Given the description of an element on the screen output the (x, y) to click on. 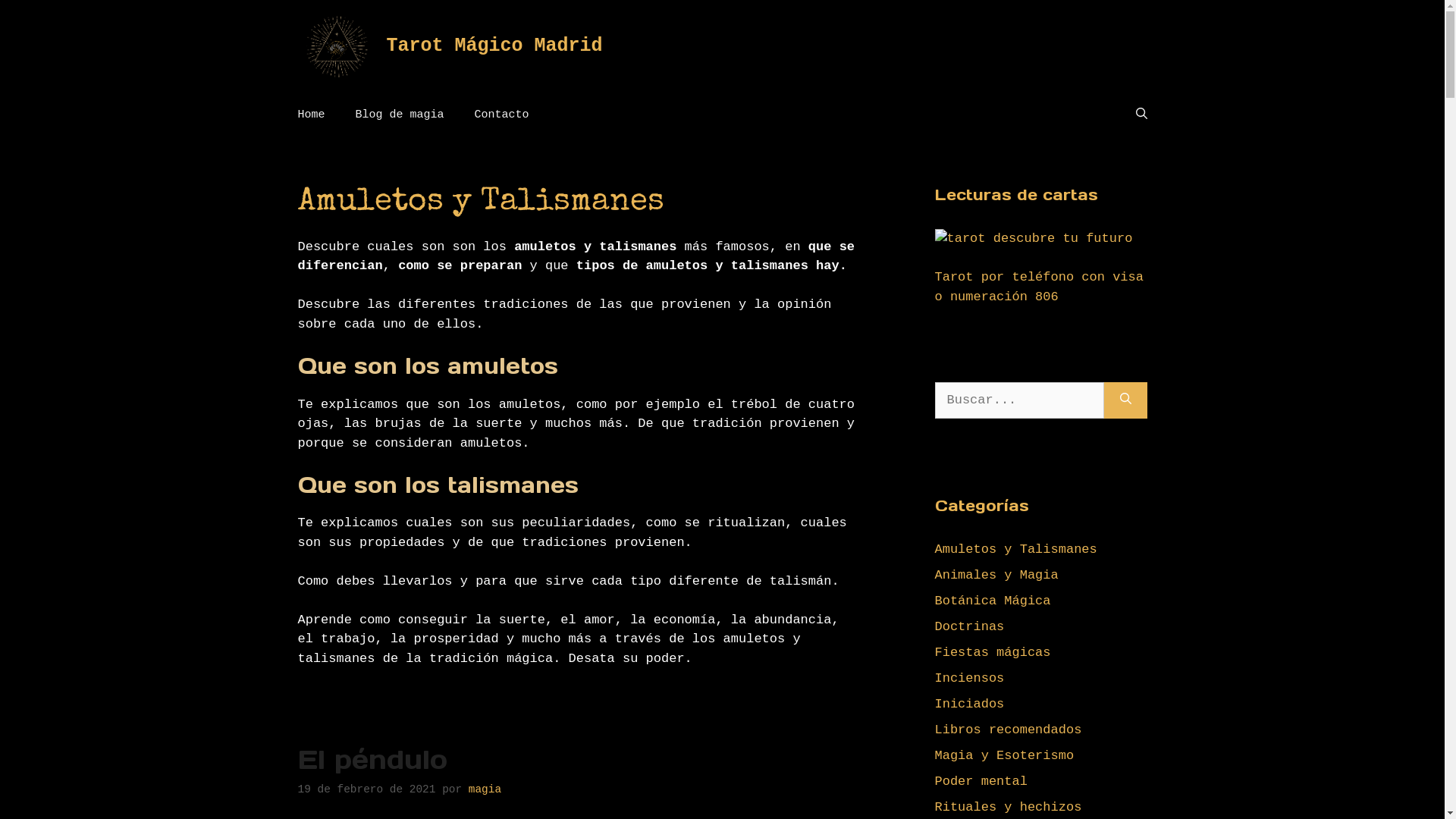
Blog de magia Element type: text (399, 115)
tarot descubre tu futuro Element type: hover (1033, 238)
Magia y Esoterismo Element type: text (1003, 755)
tarot descubre tu futuro Element type: hover (1033, 238)
Animales y Magia Element type: text (995, 574)
Poder mental Element type: text (980, 781)
Iniciados Element type: text (969, 703)
Libros recomendados Element type: text (1007, 729)
Contacto Element type: text (501, 115)
Buscar: Element type: hover (1018, 400)
Amuletos y Talismanes Element type: text (1015, 549)
Home Element type: text (310, 115)
magia Element type: text (484, 789)
Doctrinas Element type: text (969, 626)
Inciensos Element type: text (969, 678)
Rituales y hechizos Element type: text (1007, 807)
